Given the description of an element on the screen output the (x, y) to click on. 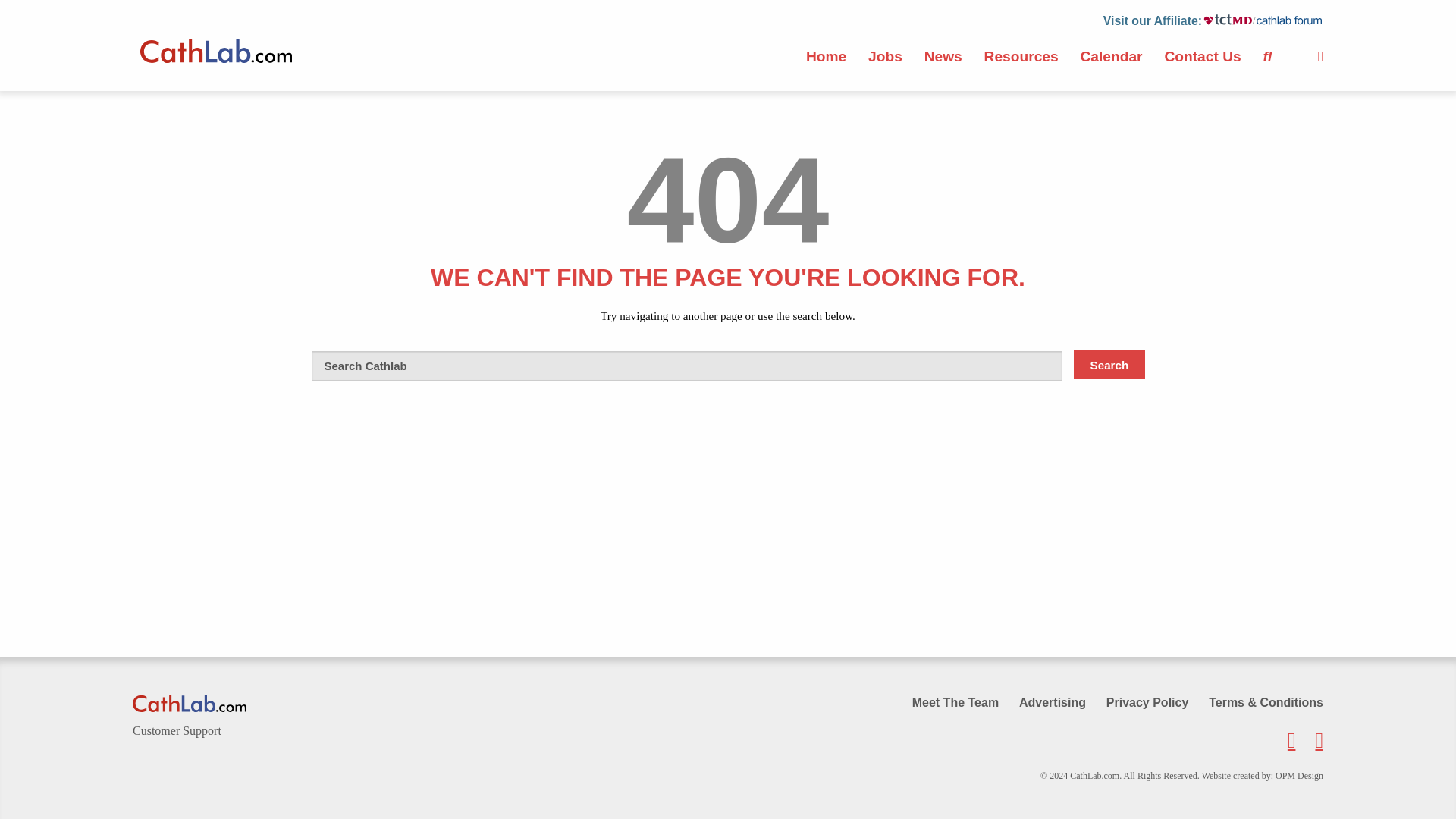
Advertising (1044, 702)
Jobs (884, 56)
TCTMD Affiliate (1262, 18)
Meet The Team (946, 702)
News (943, 56)
Customer Support (272, 730)
Search (1109, 364)
Contact Us (1201, 56)
Search (1109, 364)
Resources (1021, 56)
Calendar (1110, 56)
TCTMD Affiliate (1152, 20)
Search (1109, 364)
OPM Design (1299, 775)
Home (825, 56)
